Given the description of an element on the screen output the (x, y) to click on. 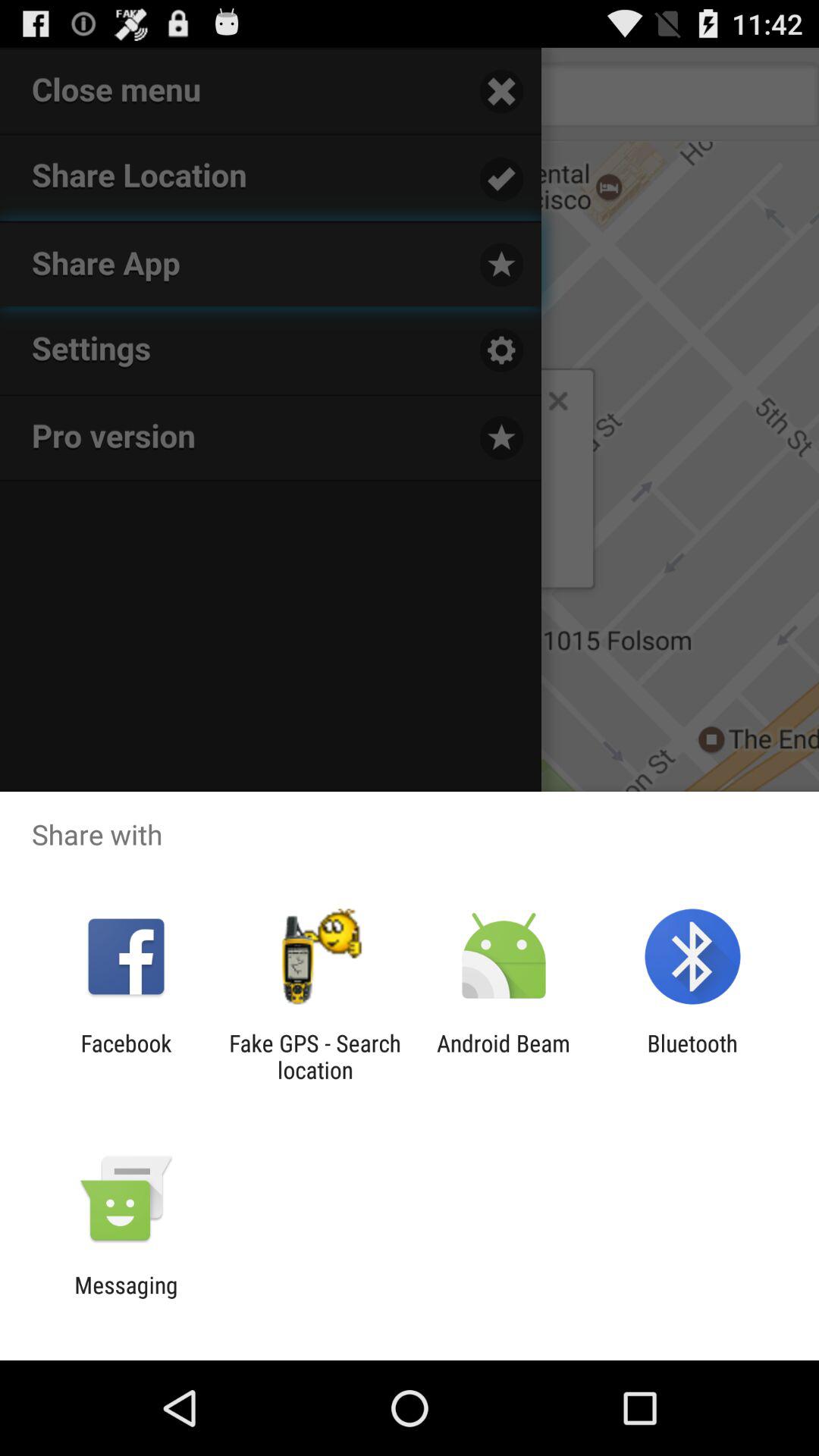
open the item next to the fake gps search item (125, 1056)
